Given the description of an element on the screen output the (x, y) to click on. 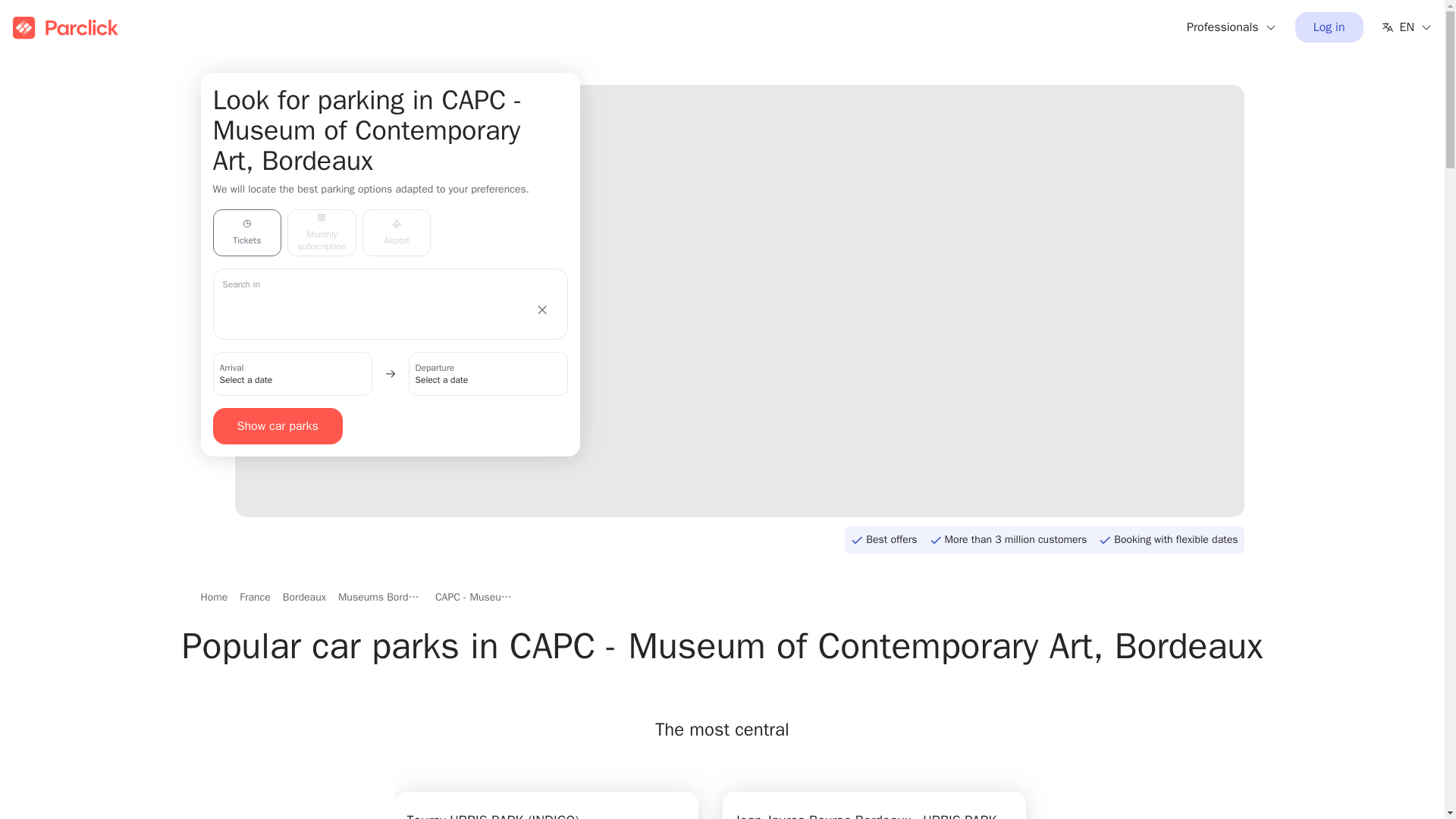
Home (213, 597)
Monthly subscription (321, 232)
Bordeaux (304, 597)
Airport (396, 232)
Museums Bordeaux (380, 597)
Museums Bordeaux (380, 597)
Show car parks (277, 425)
Bordeaux (304, 597)
Professionals (1231, 27)
Log in (1328, 27)
